Given the description of an element on the screen output the (x, y) to click on. 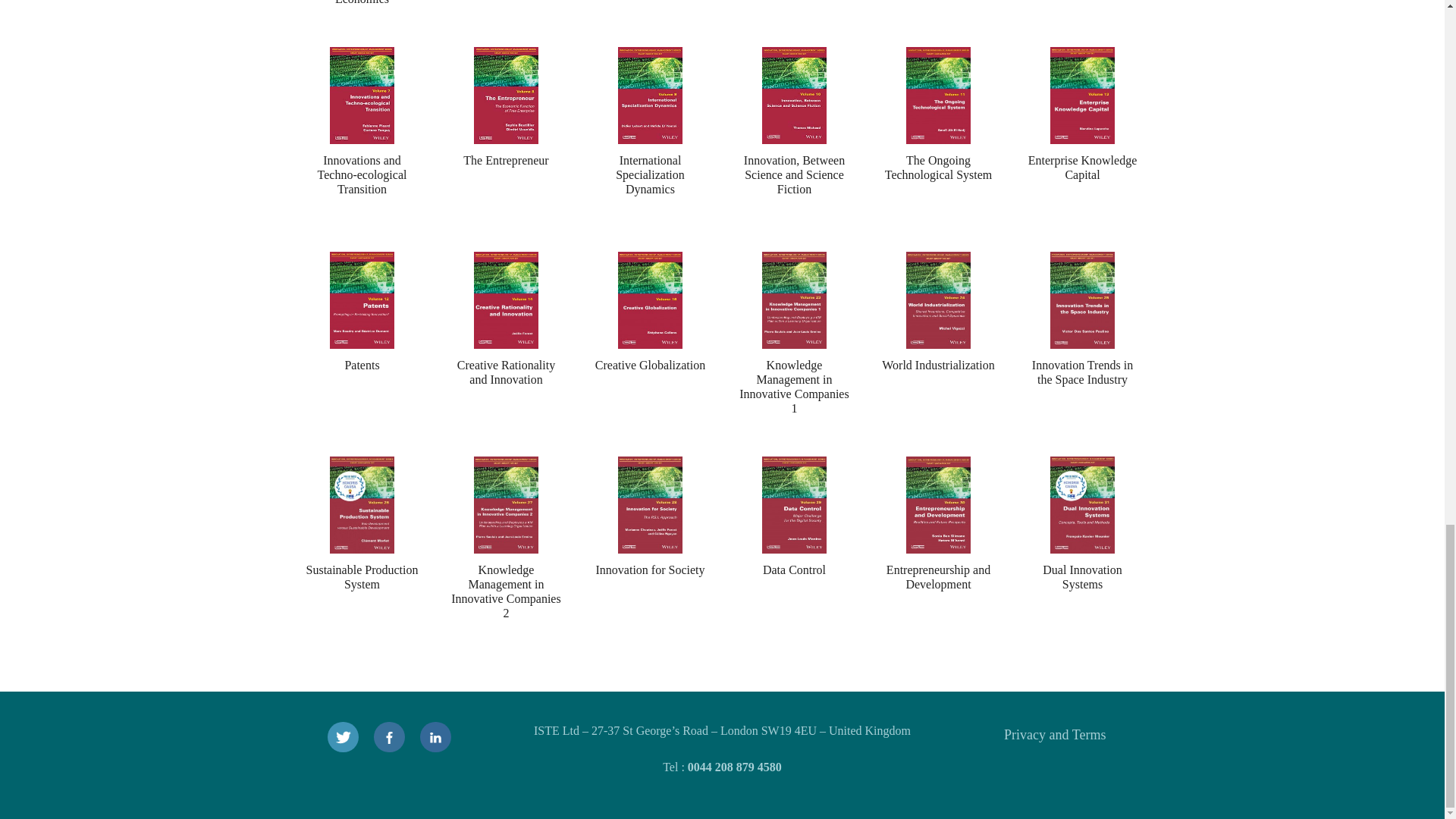
Fab Labs (938, 23)
Entrepreneurial Ecosystems (505, 23)
Big Data, Open Data and Data Development (649, 23)
Circular Economy, Industrial Ecology and Short Supply Chain (793, 23)
Knowledge Management and Innovation (1082, 23)
